Given the description of an element on the screen output the (x, y) to click on. 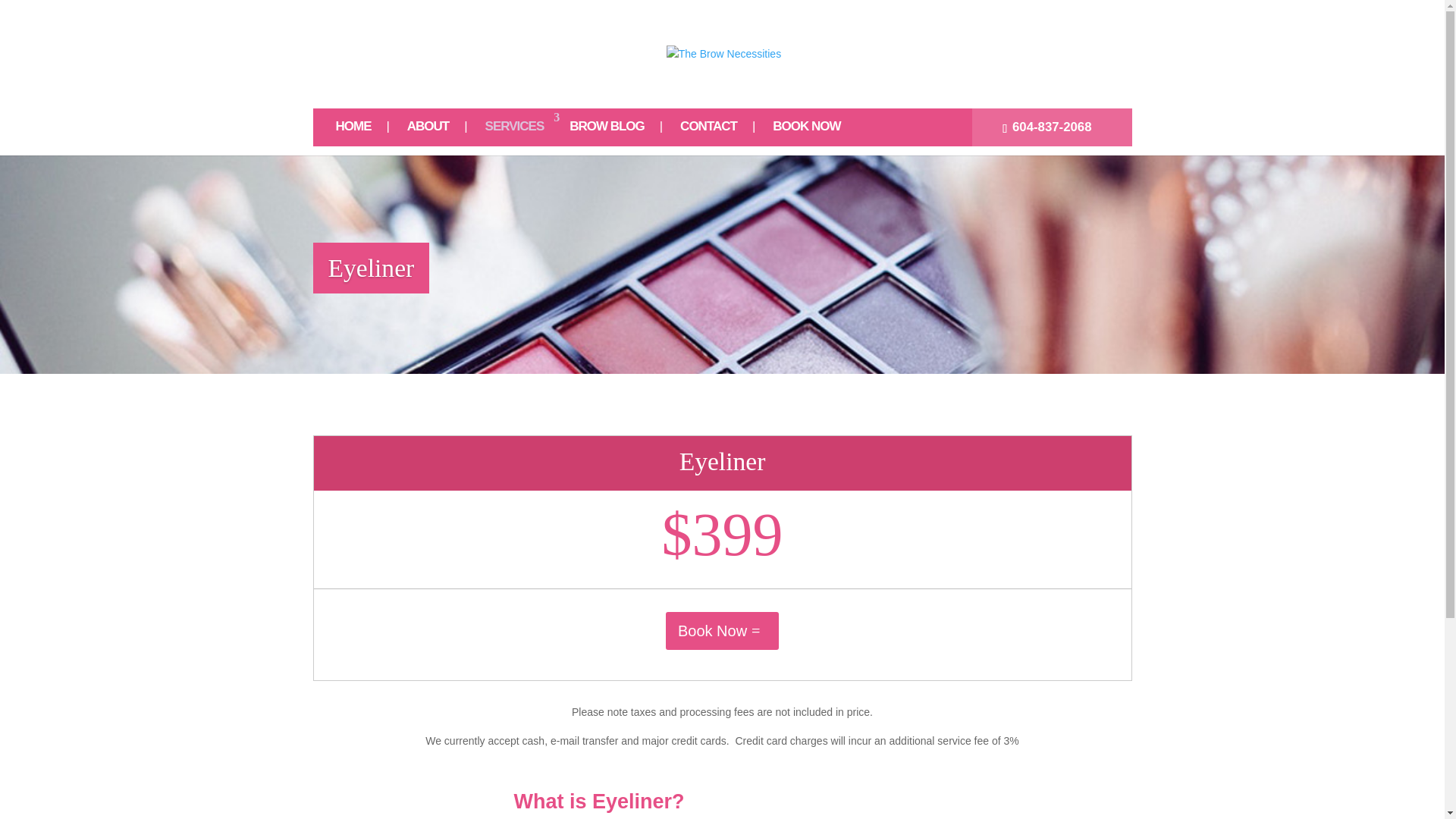
BOOK NOW (814, 131)
CONTACT (716, 131)
ABOUT (436, 131)
Book Now (721, 630)
BROW BLOG (615, 131)
HOME (361, 131)
SERVICES (518, 131)
